Given the description of an element on the screen output the (x, y) to click on. 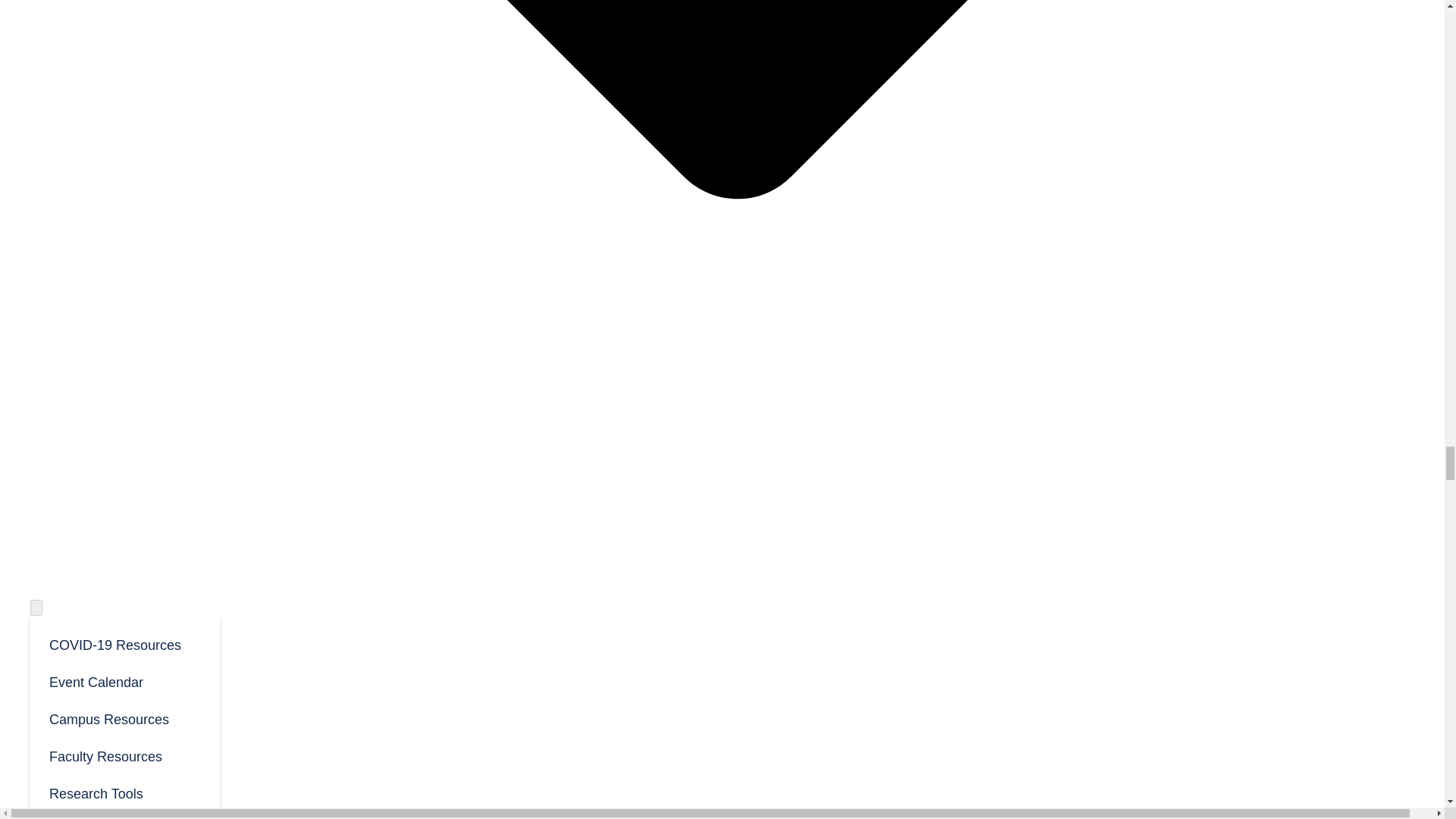
News Stories (125, 815)
Event Calendar (125, 681)
COVID-19 Resources (125, 643)
Campus Resources (125, 718)
Faculty Resources (125, 755)
Research Tools (125, 792)
